Given the description of an element on the screen output the (x, y) to click on. 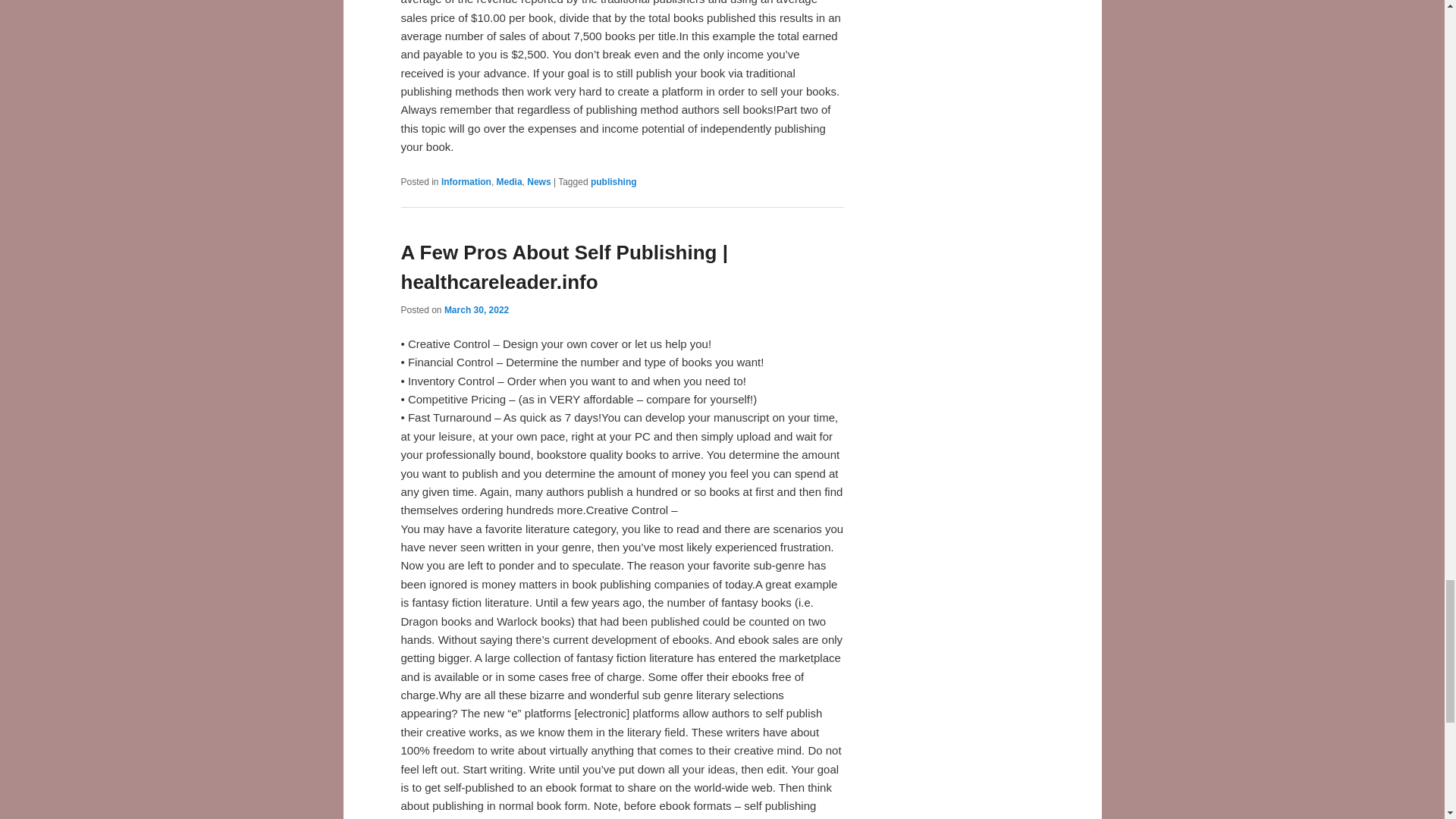
Information (466, 181)
News (538, 181)
Media (509, 181)
publishing (614, 181)
7:49 pm (476, 309)
March 30, 2022 (476, 309)
